Given the description of an element on the screen output the (x, y) to click on. 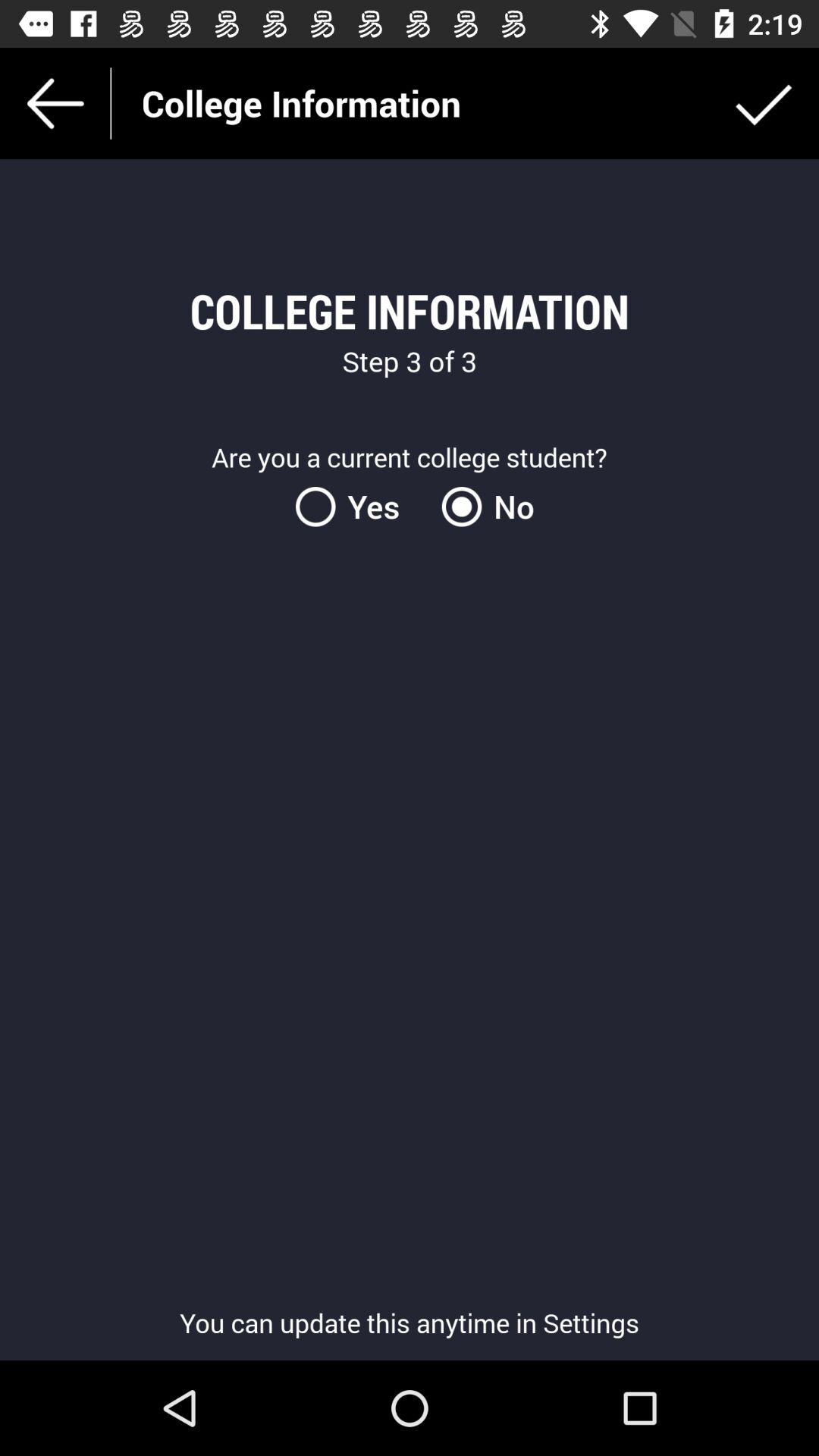
turn off item to the left of the no (356, 506)
